Given the description of an element on the screen output the (x, y) to click on. 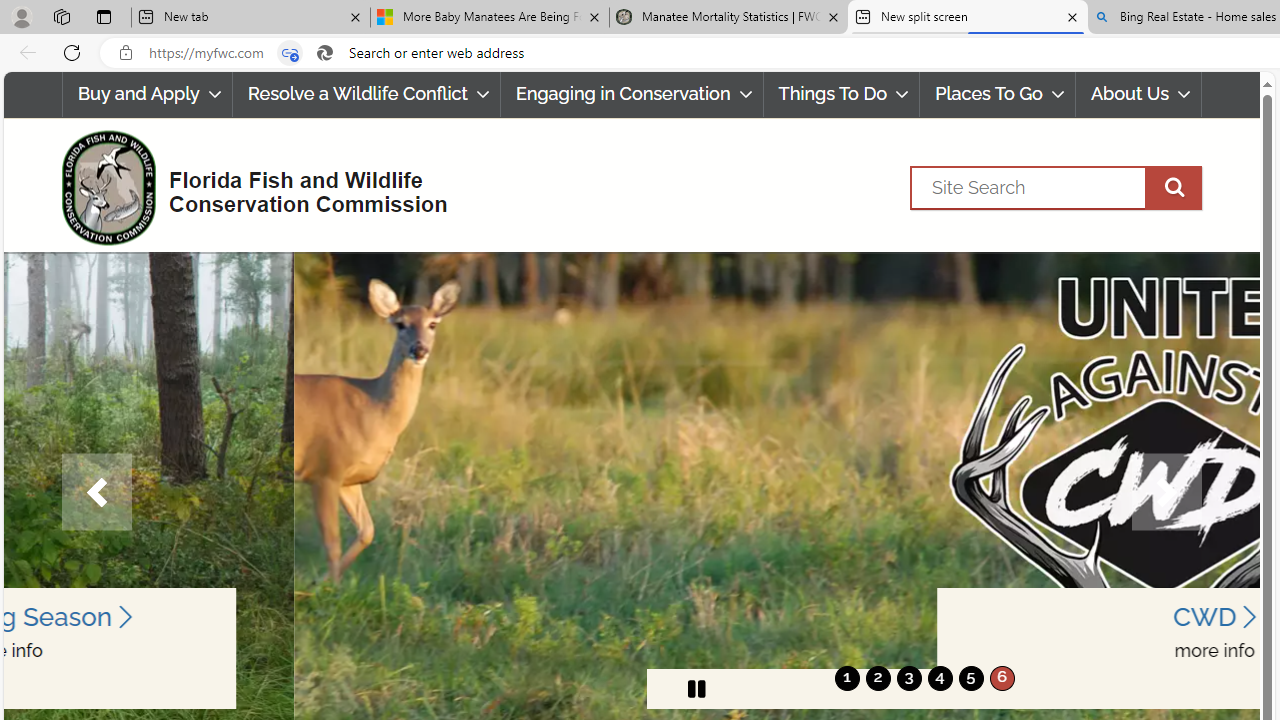
2 (877, 678)
1 (847, 678)
Resolve a Wildlife Conflict (365, 94)
Things To Do (841, 94)
Engaging in Conservation (631, 94)
Search icon (324, 53)
Buy and Apply (146, 94)
execute site search (1173, 187)
Tabs in split screen (289, 53)
FWC Logo Florida Fish and Wildlife Conservation Commission (246, 185)
Things To Do (841, 94)
